Given the description of an element on the screen output the (x, y) to click on. 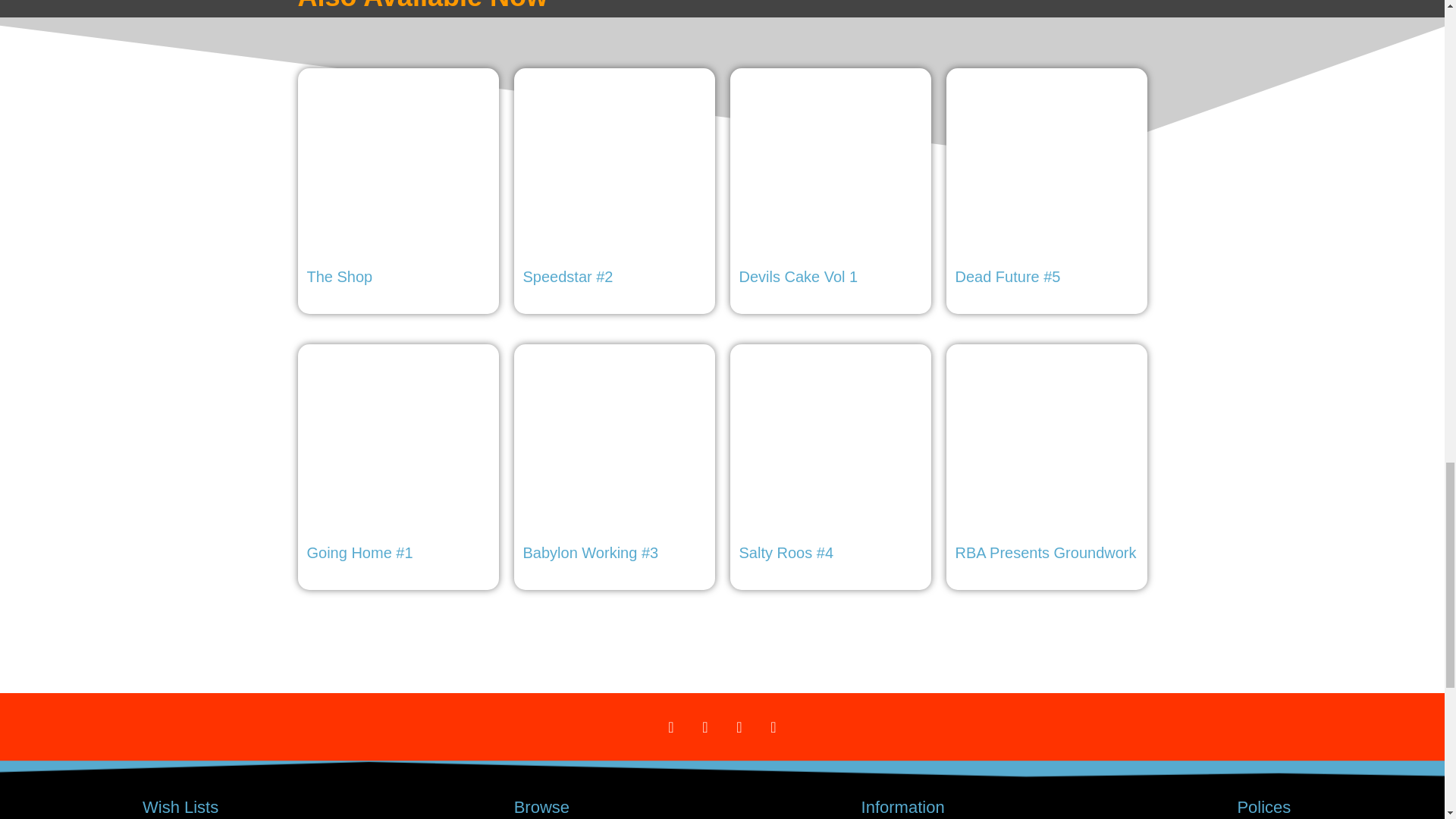
RBA Presents Groundwork (1046, 460)
The Shop (397, 184)
Devils Cake Vol 1 (829, 184)
